Given the description of an element on the screen output the (x, y) to click on. 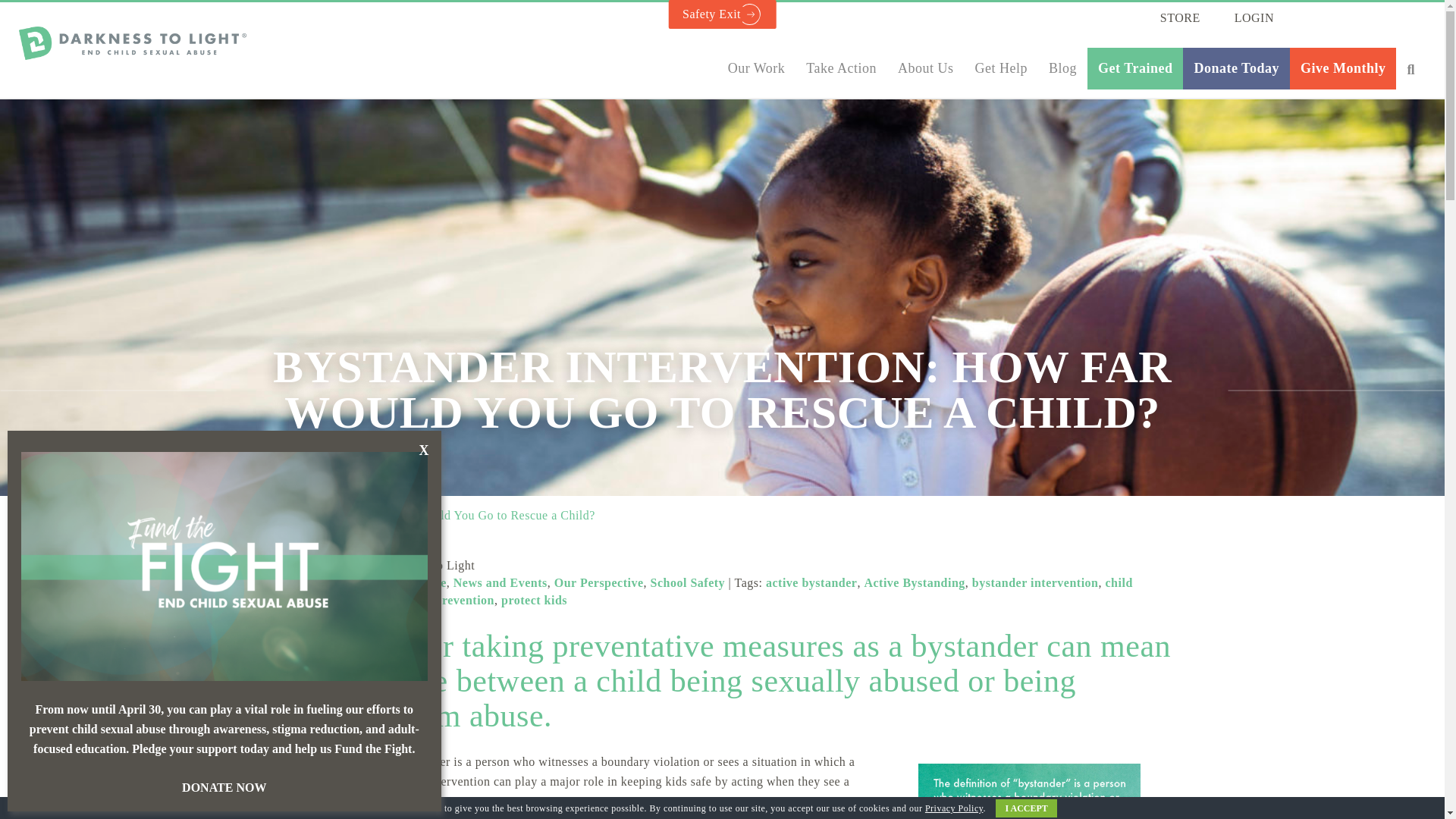
About Us (924, 68)
Take Action (840, 68)
Get Trained (1134, 68)
Donate Today (1236, 68)
Safety Exit (722, 14)
LOGIN (1254, 17)
Our Work (756, 68)
Give Monthly (1343, 68)
Get Help (1000, 68)
Blog (1062, 68)
STORE (1179, 17)
